Given the description of an element on the screen output the (x, y) to click on. 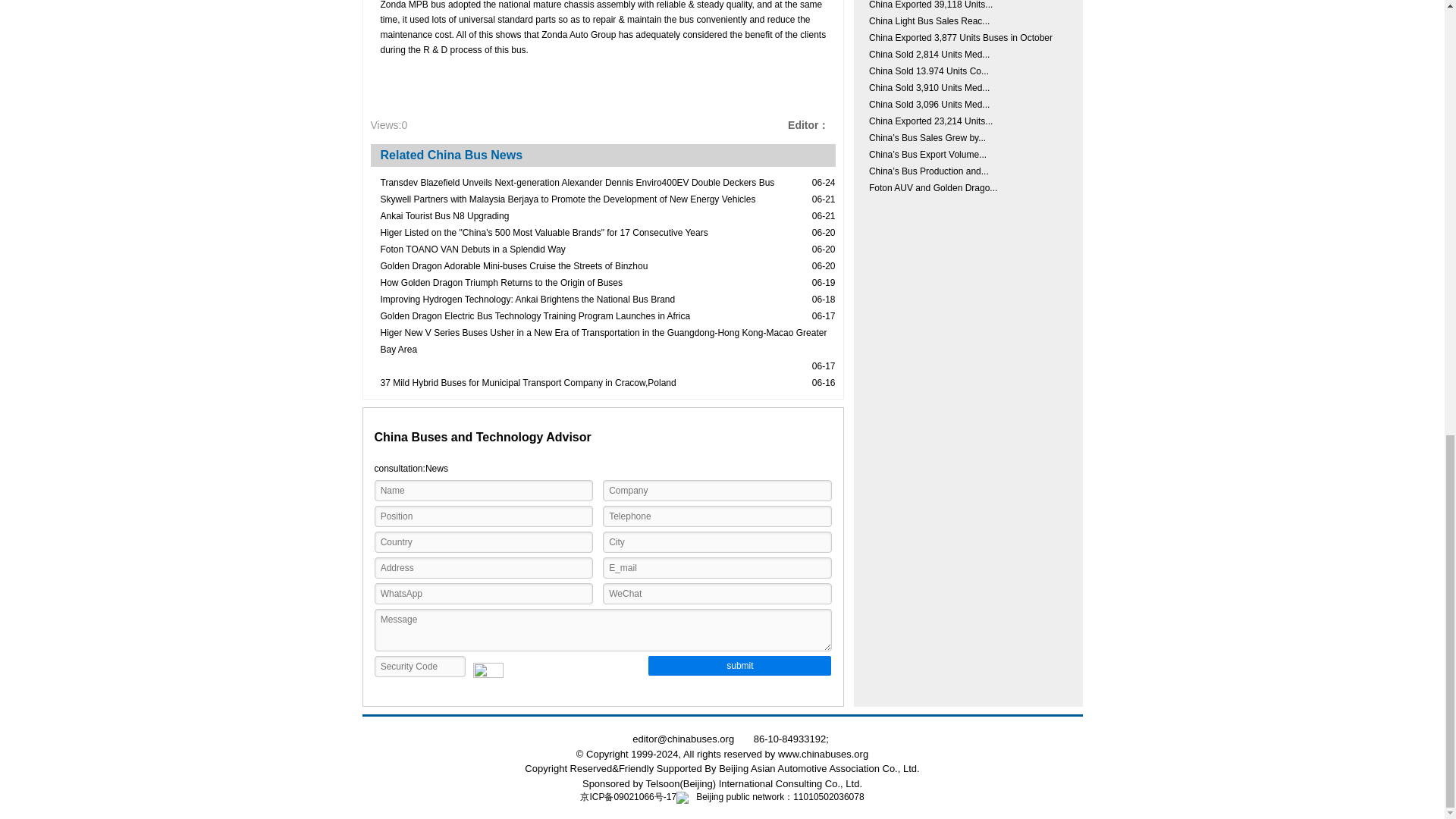
Ankai Tourist Bus N8 Upgrading (444, 216)
Foton TOANO VAN Debuts in a Splendid Way (473, 248)
Ankai Tourist Bus N8 Upgrading (444, 216)
Higer Listed on the  (543, 232)
How Golden Dragon Triumph Returns to the Origin of Buses (501, 282)
